Given the description of an element on the screen output the (x, y) to click on. 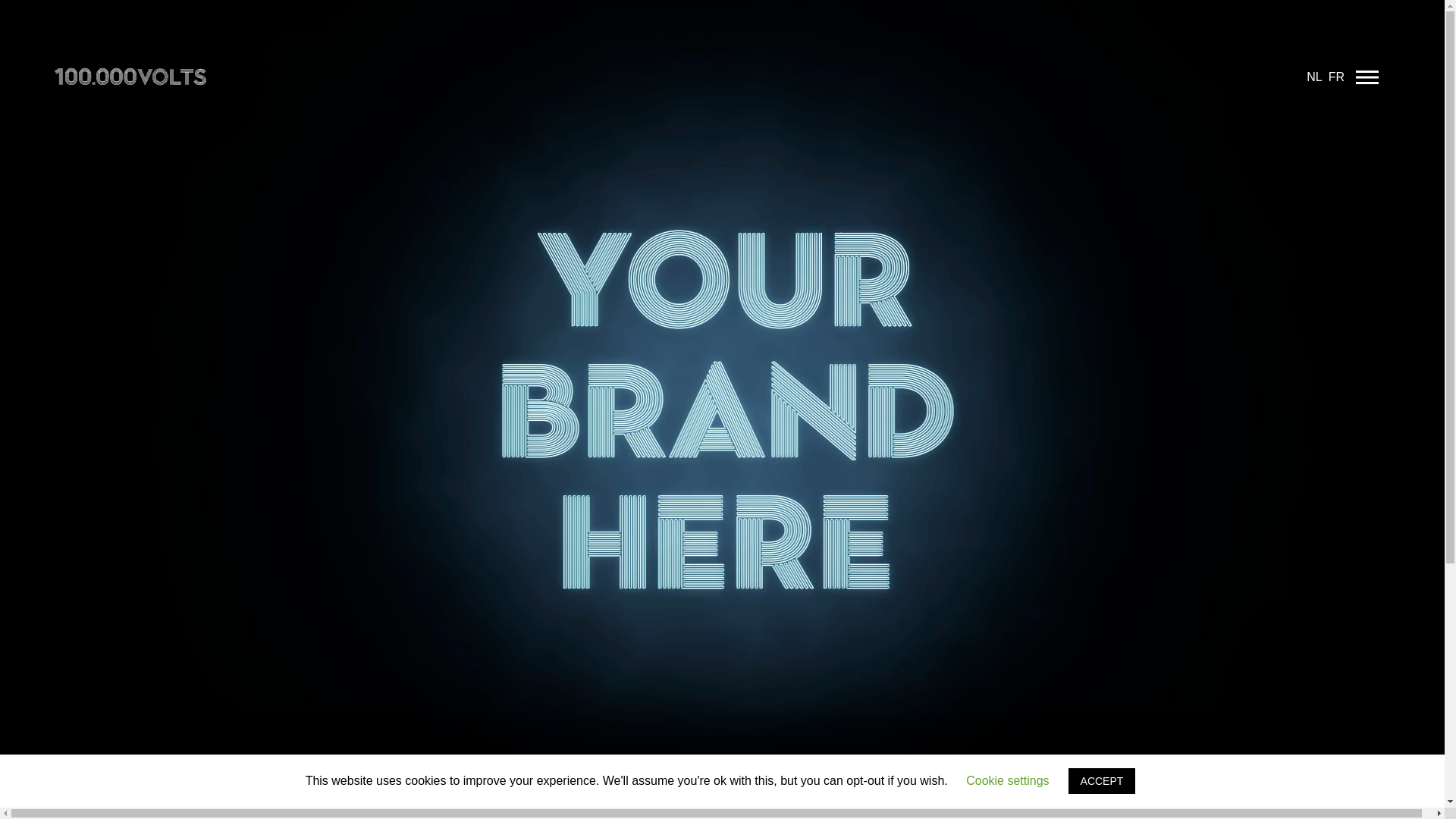
Cookie settings Element type: text (1007, 780)
NL Element type: text (1313, 77)
FR Element type: text (1336, 77)
ACCEPT Element type: text (1101, 780)
100.000VOLTS Element type: text (95, 71)
